Given the description of an element on the screen output the (x, y) to click on. 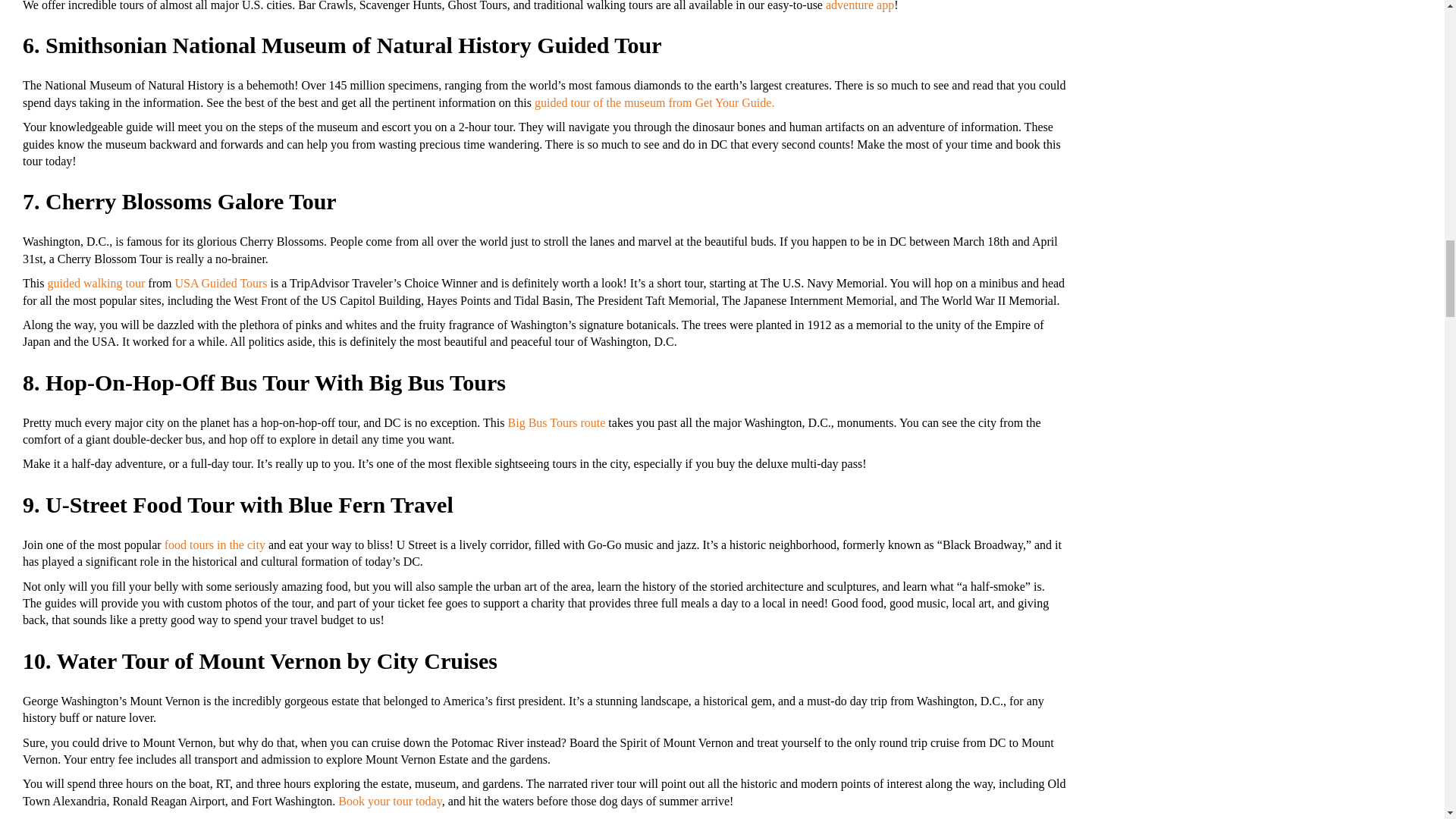
Big Bus Tours route (556, 422)
adventure app (859, 5)
guided tour of the museum from Get Your Guide. (654, 102)
Book your tour today (389, 800)
guided walking tour (95, 282)
USA Guided Tours (220, 282)
food tours in the city (214, 544)
